Given the description of an element on the screen output the (x, y) to click on. 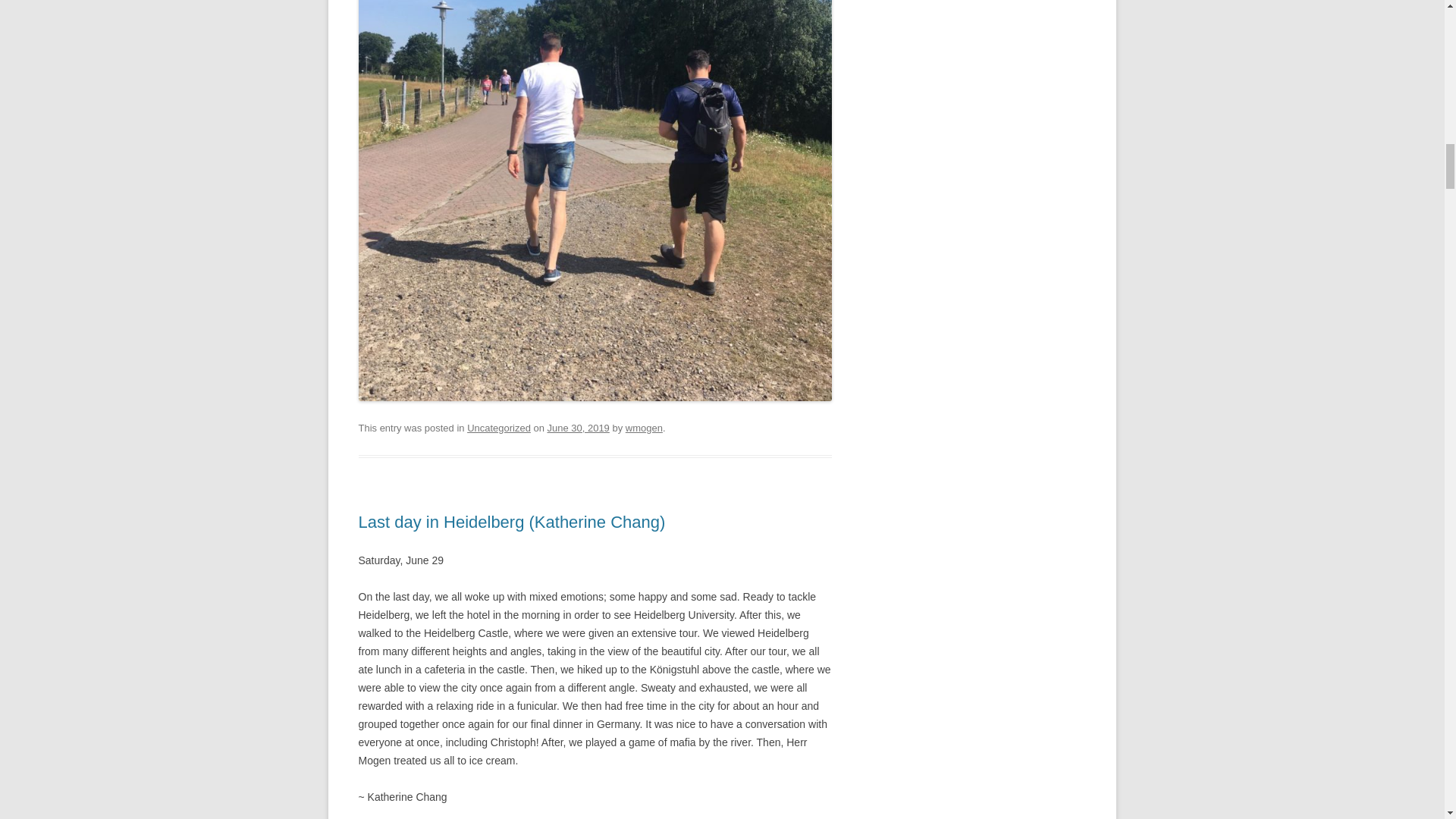
7:17 pm (578, 427)
wmogen (644, 427)
View all posts by wmogen (644, 427)
Uncategorized (499, 427)
June 30, 2019 (578, 427)
